Given the description of an element on the screen output the (x, y) to click on. 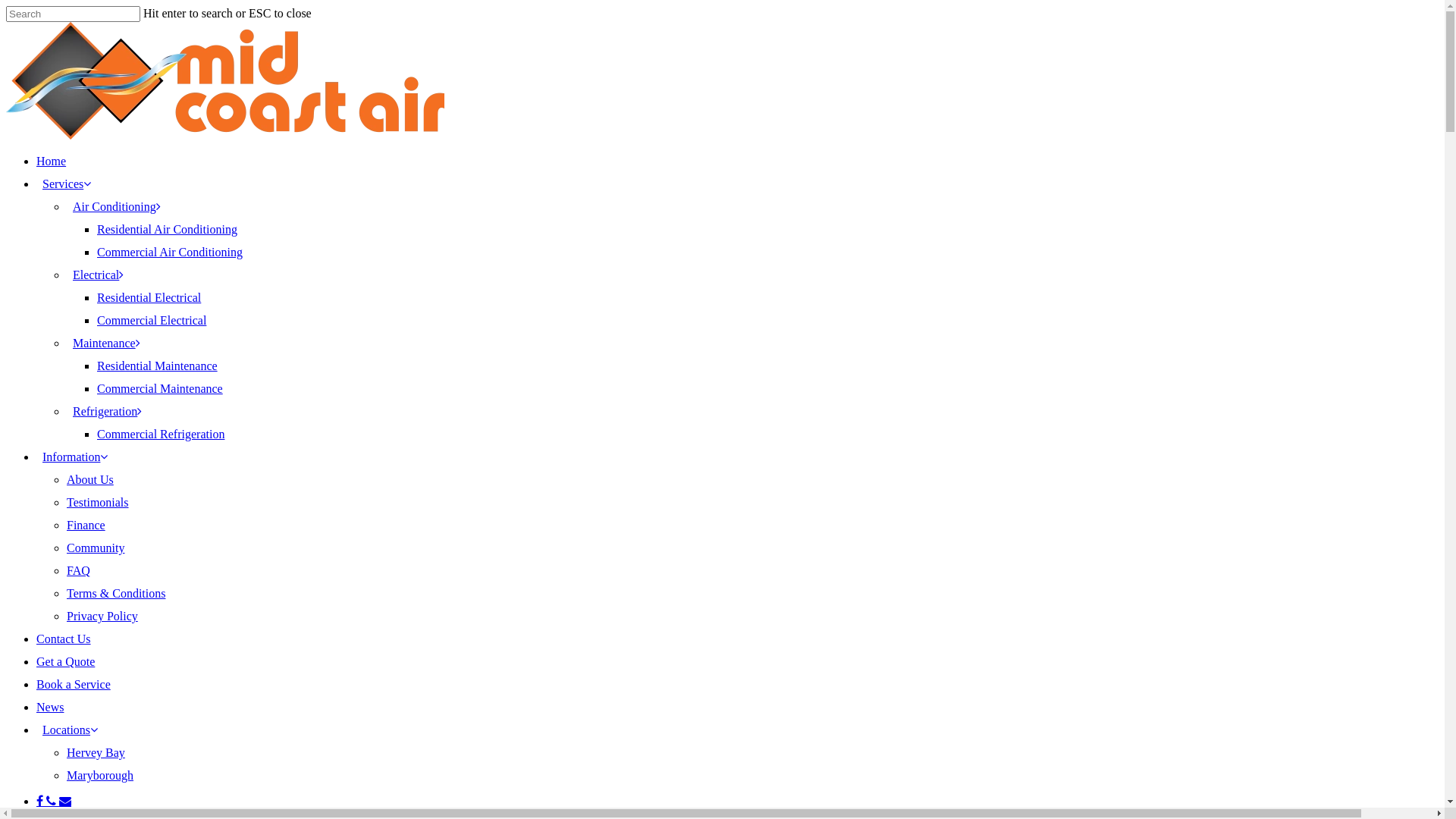
Finance Element type: text (85, 524)
Get a Quote Element type: text (65, 661)
News Element type: text (49, 706)
Book a Service Element type: text (73, 683)
Privacy Policy Element type: text (102, 615)
Residential Air Conditioning Element type: text (167, 228)
Services Element type: text (66, 183)
Commercial Electrical Element type: text (151, 319)
phone Element type: text (52, 800)
About Us Element type: text (89, 479)
Maryborough Element type: text (99, 774)
email Element type: text (65, 800)
Locations Element type: text (69, 729)
Residential Electrical Element type: text (148, 297)
Information Element type: text (74, 456)
Skip to main content Element type: text (5, 5)
Residential Maintenance Element type: text (157, 365)
Electrical Element type: text (97, 274)
Hervey Bay Element type: text (95, 752)
Commercial Maintenance Element type: text (159, 388)
facebook Element type: text (41, 800)
Contact Us Element type: text (63, 638)
Commercial Refrigeration Element type: text (160, 433)
Maintenance Element type: text (106, 342)
FAQ Element type: text (78, 570)
Air Conditioning Element type: text (116, 206)
Refrigeration Element type: text (106, 410)
Terms & Conditions Element type: text (115, 592)
Community Element type: text (95, 547)
Testimonials Element type: text (97, 501)
Commercial Air Conditioning Element type: text (169, 251)
Home Element type: text (50, 160)
